Given the description of an element on the screen output the (x, y) to click on. 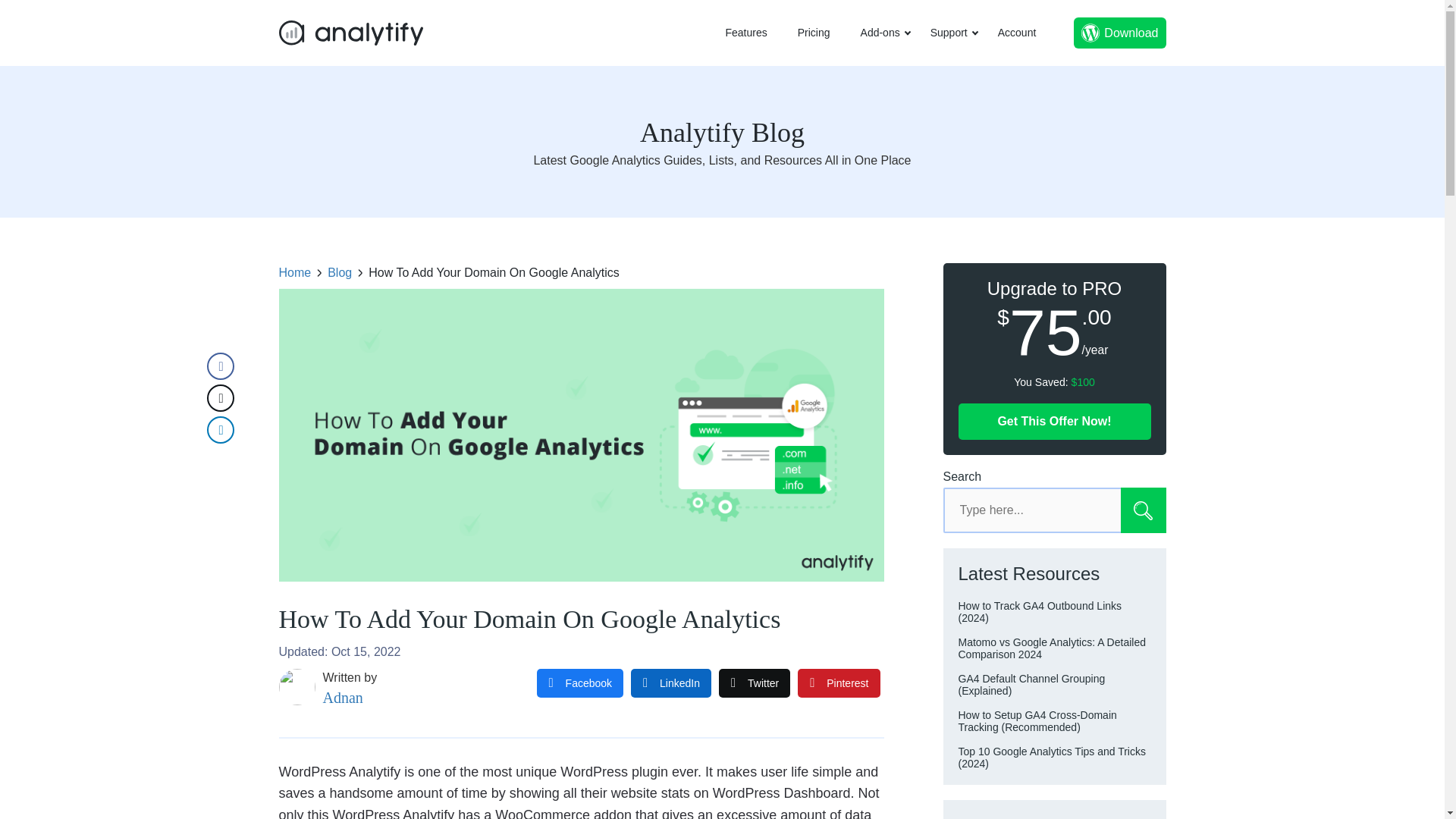
Analytify Support Panel (949, 32)
Add-ons (880, 32)
Blog (339, 272)
Account (1016, 32)
Facebook (580, 683)
LinkedIn (670, 683)
Support (949, 32)
Twitter (754, 683)
Download (1120, 32)
Your Account (1016, 32)
Pricing (814, 32)
Features (745, 32)
Pinterest (838, 683)
Adnan (342, 697)
Search (1143, 510)
